Given the description of an element on the screen output the (x, y) to click on. 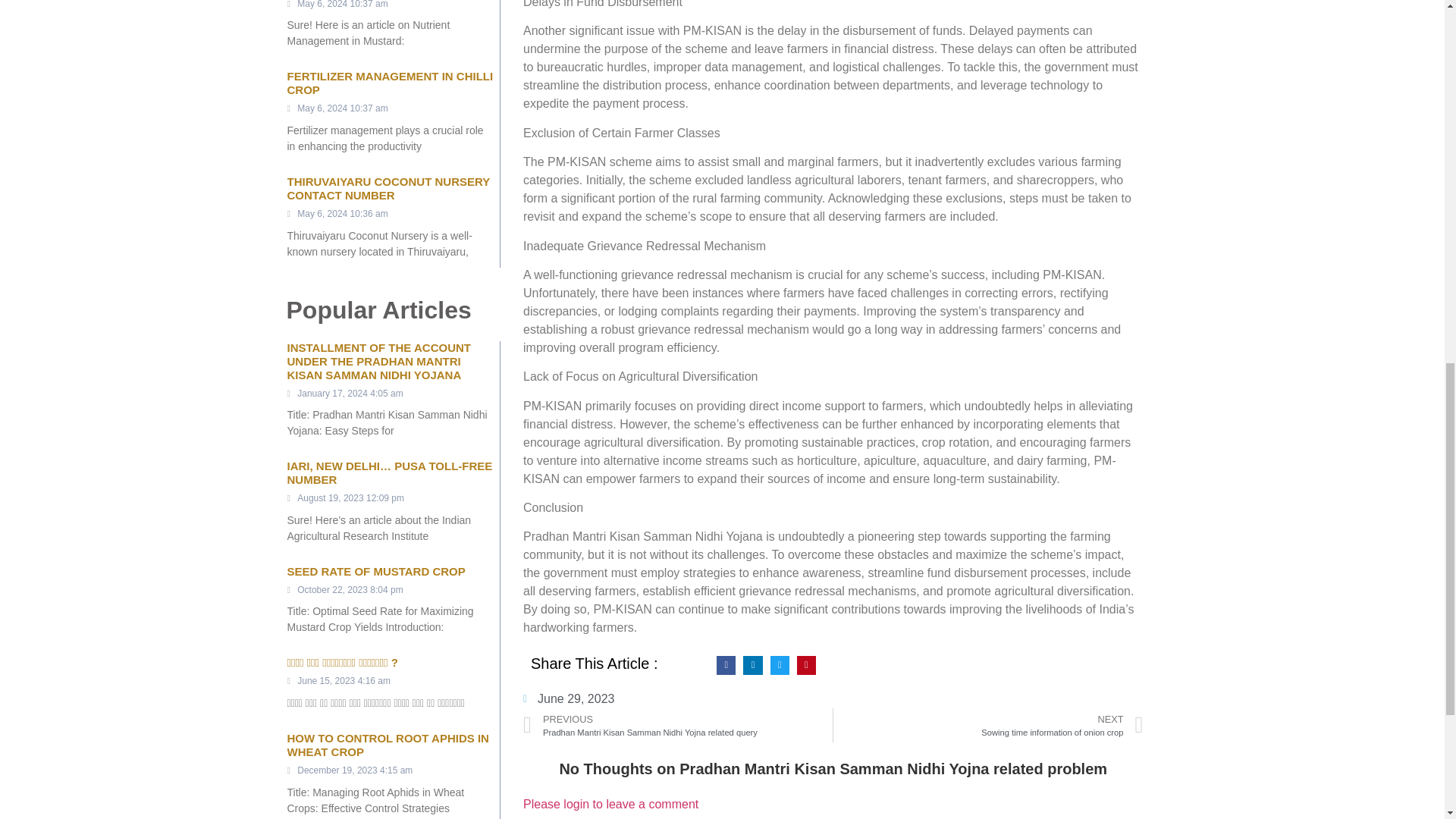
HOW TO CONTROL ROOT APHIDS IN WHEAT CROP (386, 745)
FERTILIZER MANAGEMENT IN CHILLI CROP (389, 82)
THIRUVAIYARU COCONUT NURSERY CONTACT NUMBER (387, 188)
Please login to leave a comment (610, 803)
SEED RATE OF MUSTARD CROP (987, 725)
June 29, 2023 (375, 571)
